Given the description of an element on the screen output the (x, y) to click on. 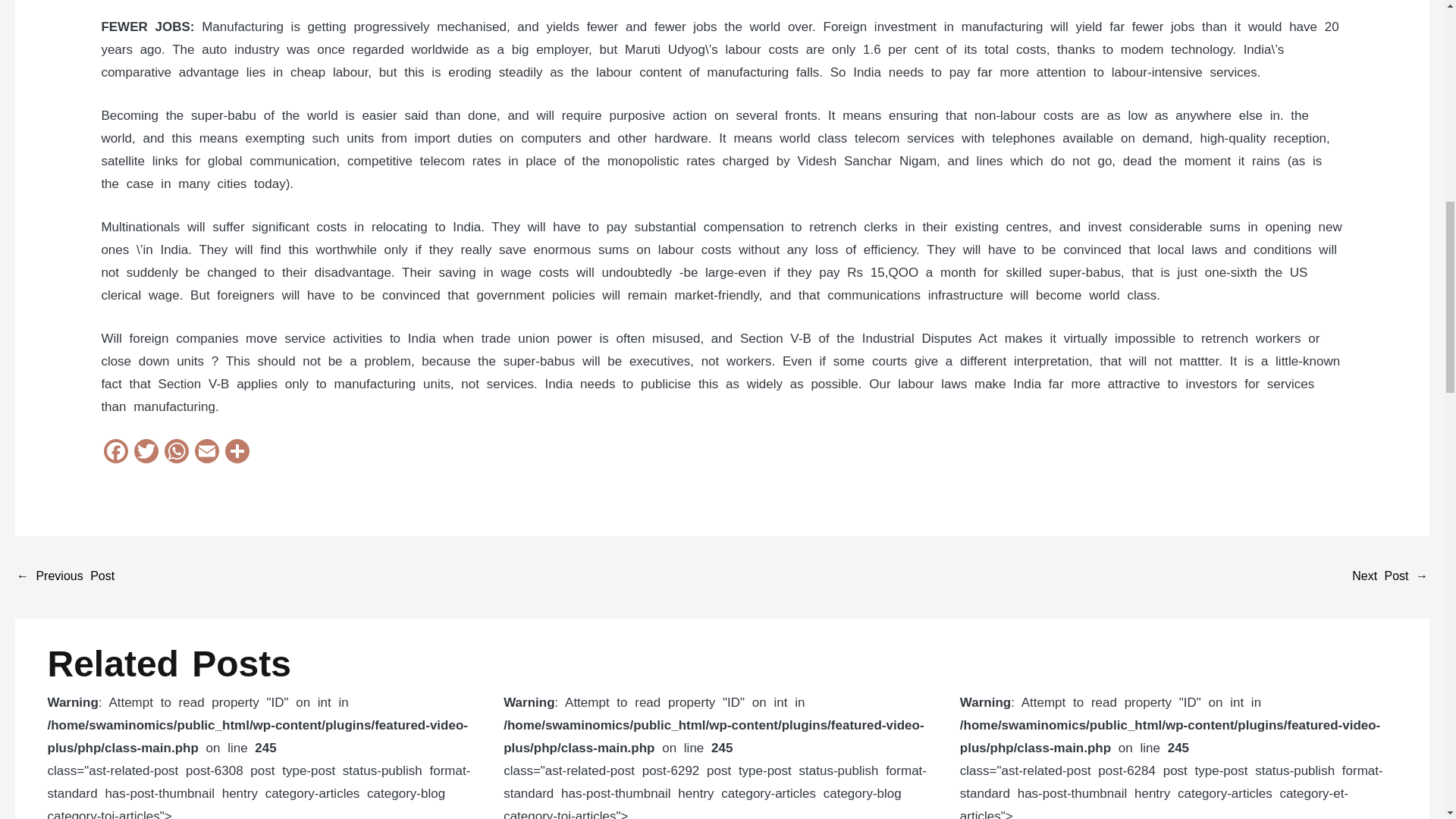
Facebook (115, 452)
Email (207, 452)
Email (207, 452)
Critics Want IMF, World Bank Abolished (65, 577)
Twitter (146, 452)
Do Democracies outdo Autocracies? (1390, 577)
Twitter (146, 452)
Facebook (115, 452)
WhatsApp (176, 452)
WhatsApp (176, 452)
Share (236, 452)
